Given the description of an element on the screen output the (x, y) to click on. 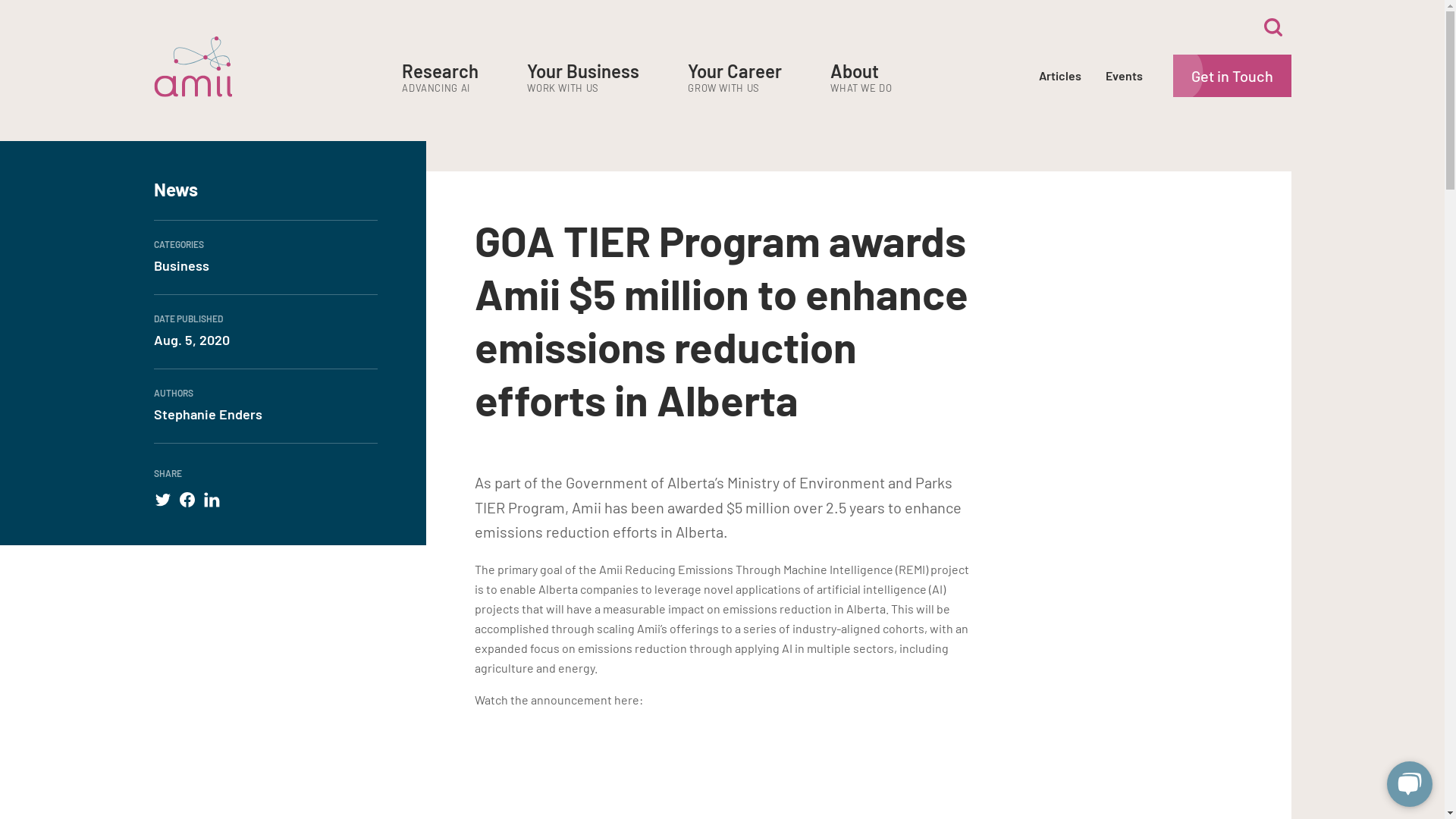
Stephanie Enders Element type: text (264, 414)
About
WHAT WE DO Element type: text (861, 78)
Events Element type: text (1123, 75)
LinkedIn Element type: text (210, 499)
Twitter Element type: text (162, 499)
Business Element type: text (264, 265)
Facebook Element type: text (186, 499)
Get in Touch Element type: text (1231, 75)
Your Career
GROW WITH US Element type: text (734, 78)
Your Business
WORK WITH US Element type: text (583, 78)
Articles Element type: text (1059, 75)
Research
ADVANCING AI Element type: text (439, 78)
